Given the description of an element on the screen output the (x, y) to click on. 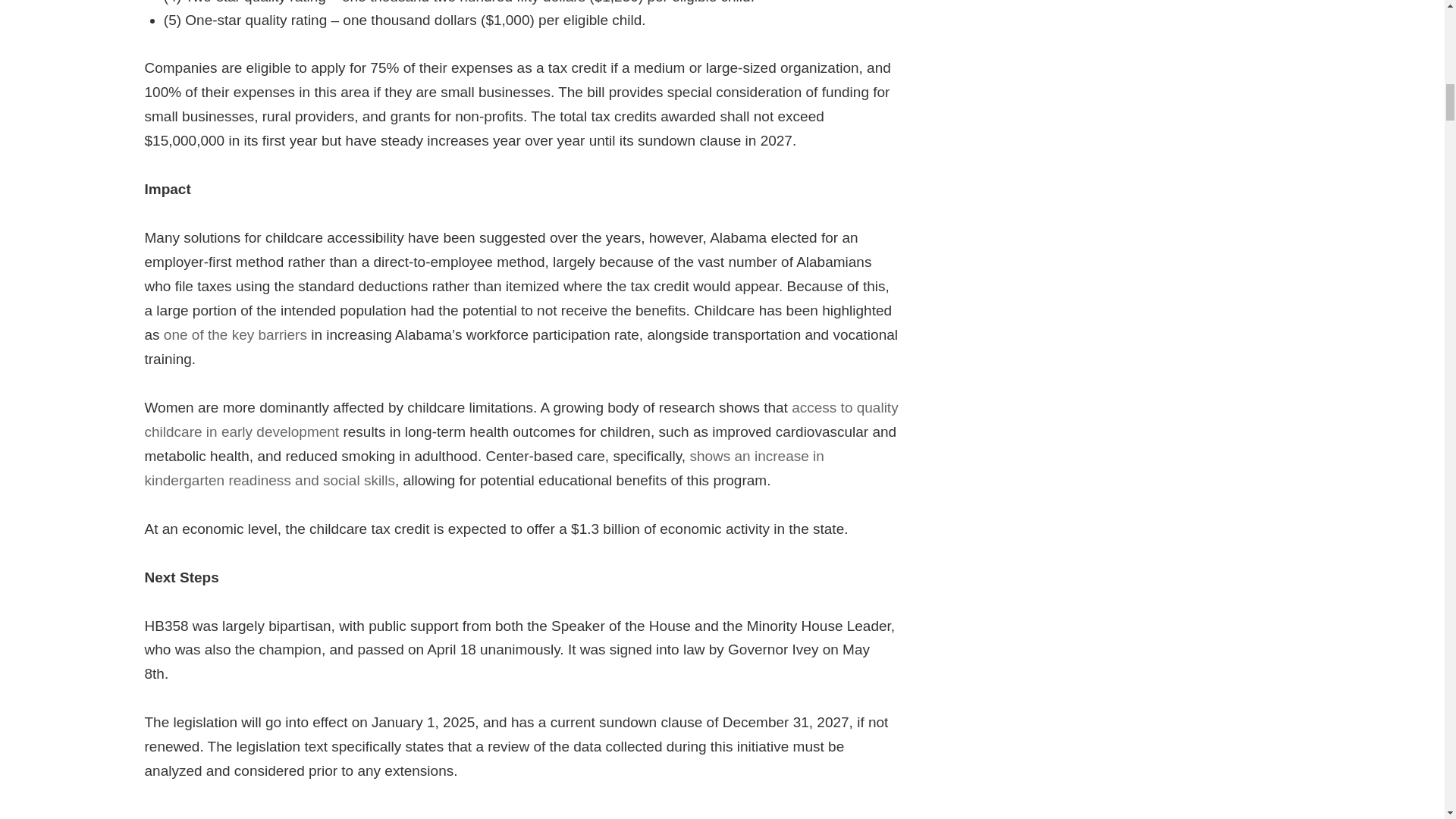
access to quality childcare in early development (521, 419)
one of the key barriers (235, 334)
